Given the description of an element on the screen output the (x, y) to click on. 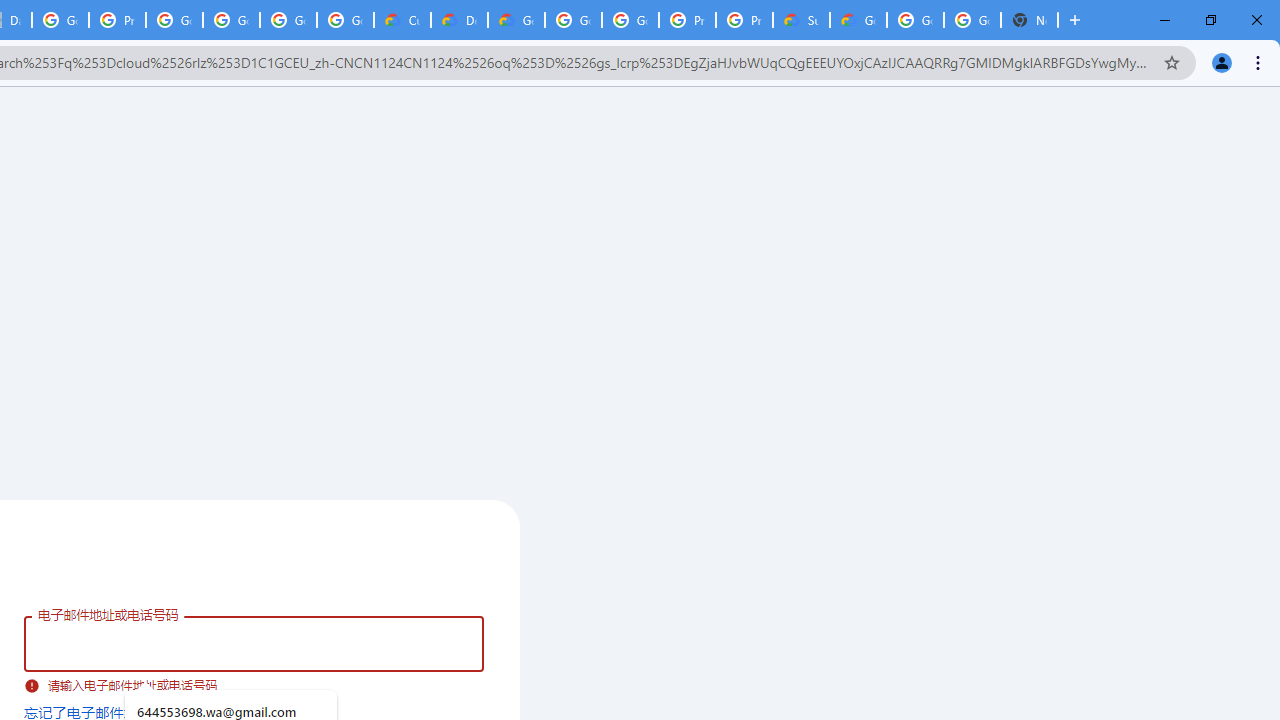
Support Hub | Google Cloud (801, 20)
New Tab (1029, 20)
Gemini for Business and Developers | Google Cloud (516, 20)
Google Workspace - Specific Terms (345, 20)
Google Cloud Service Health (858, 20)
Google Cloud Platform (971, 20)
Google Workspace - Specific Terms (288, 20)
